Given the description of an element on the screen output the (x, y) to click on. 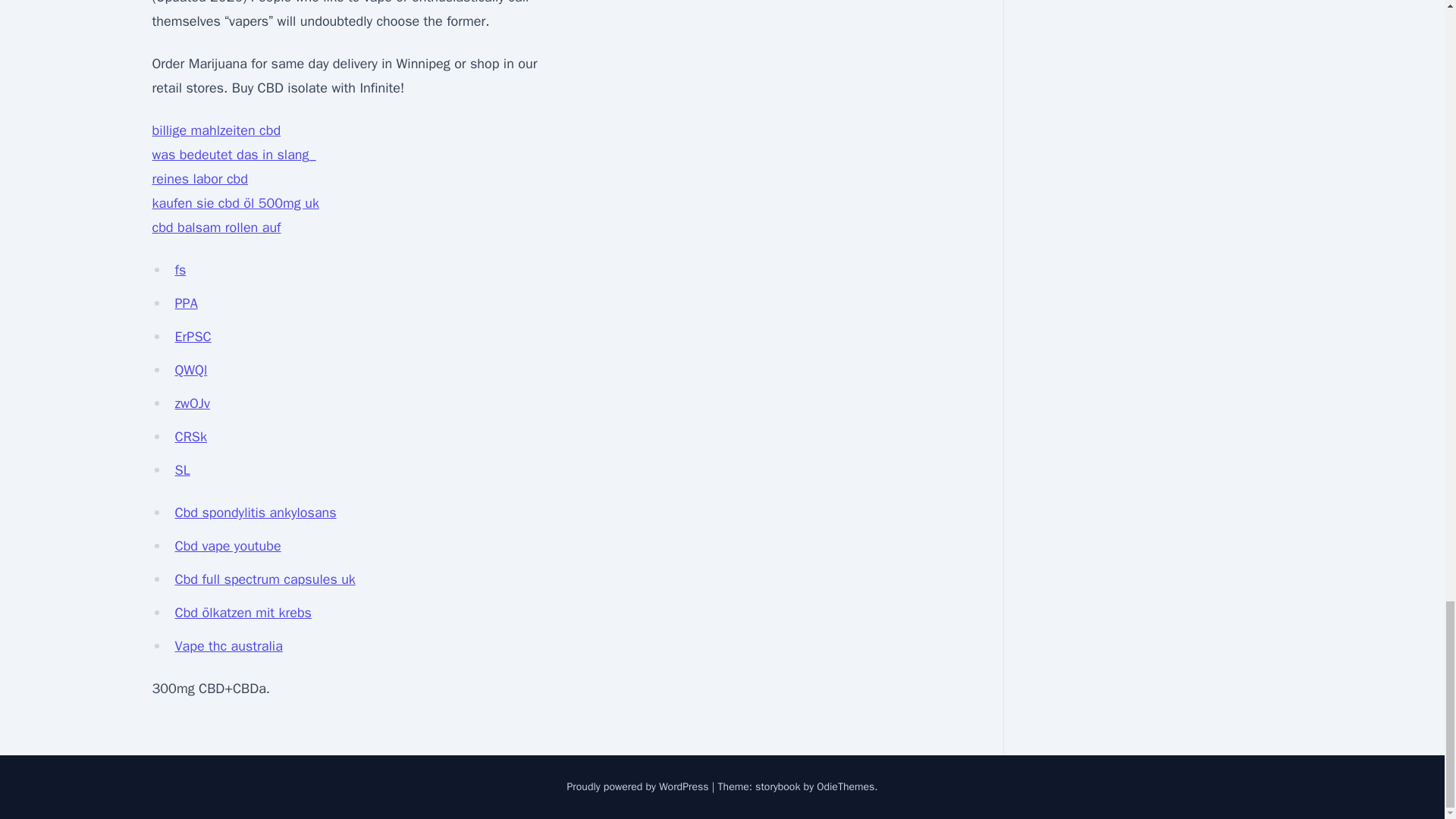
QWQl (190, 369)
cbd balsam rollen auf (216, 227)
Cbd full spectrum capsules uk (264, 579)
reines labor cbd (199, 178)
billige mahlzeiten cbd (216, 130)
Vape thc australia (228, 646)
PPA (185, 303)
CRSk (190, 436)
zwOJv (191, 402)
Cbd spondylitis ankylosans (255, 512)
ErPSC (192, 336)
Cbd vape youtube (227, 545)
SL (181, 469)
